Given the description of an element on the screen output the (x, y) to click on. 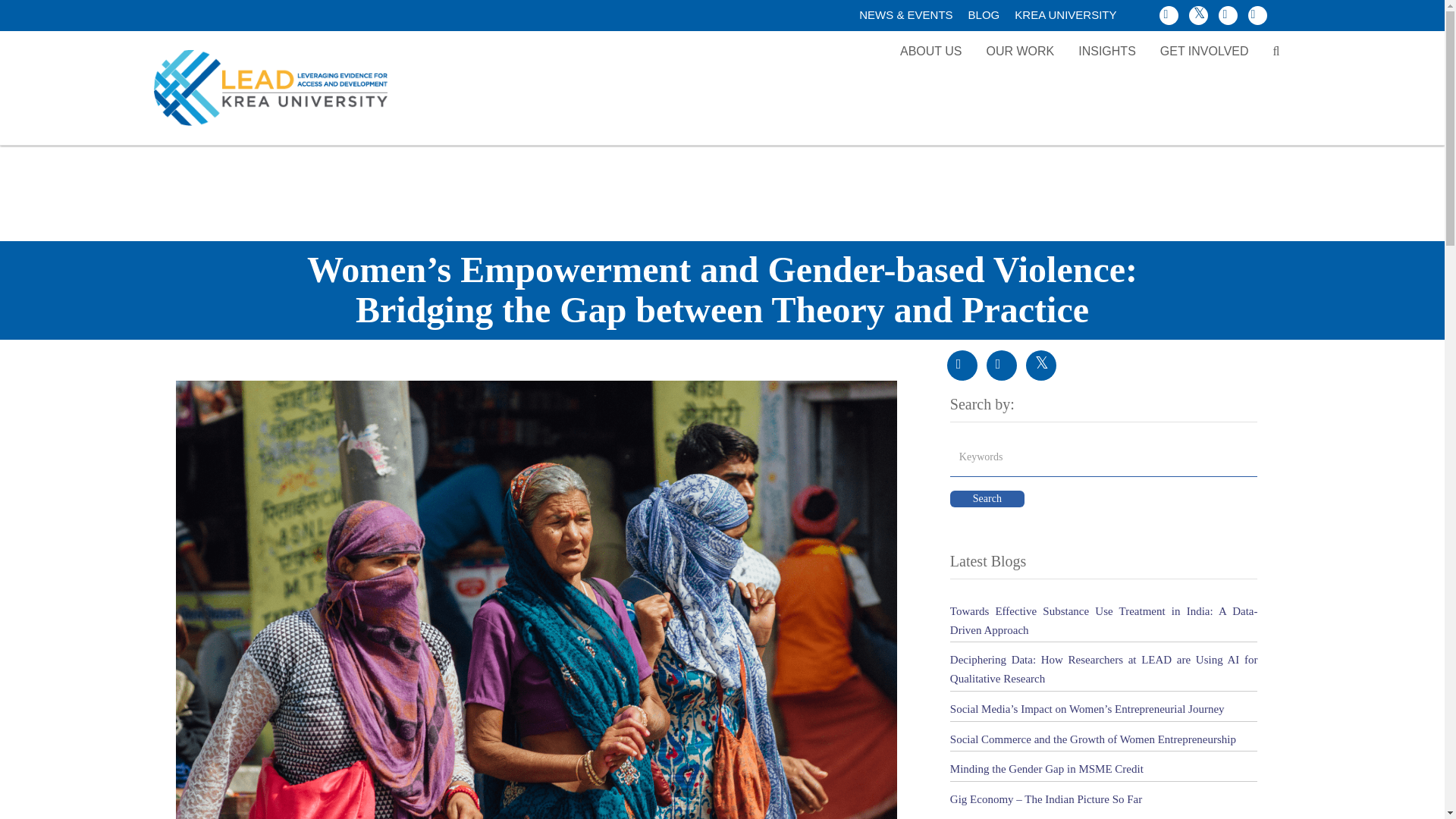
GET INVOLVED (1204, 51)
OUR WORK (1019, 51)
KREA UNIVERSITY (1065, 14)
INSIGHTS (1106, 51)
BLOG (983, 14)
ABOUT US (930, 51)
